Given the description of an element on the screen output the (x, y) to click on. 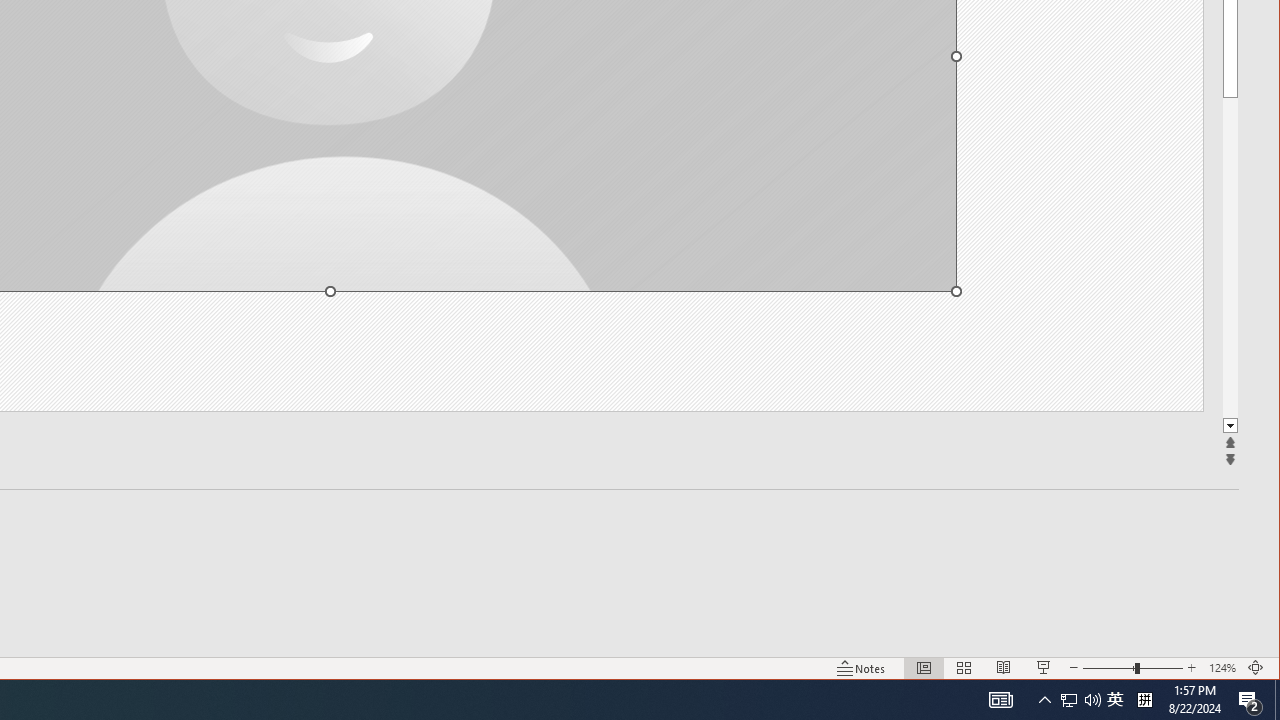
Action Center, 2 new notifications (1250, 699)
Show desktop (1277, 699)
Zoom Out (1108, 668)
User Promoted Notification Area (1080, 699)
Zoom (1115, 699)
